Given the description of an element on the screen output the (x, y) to click on. 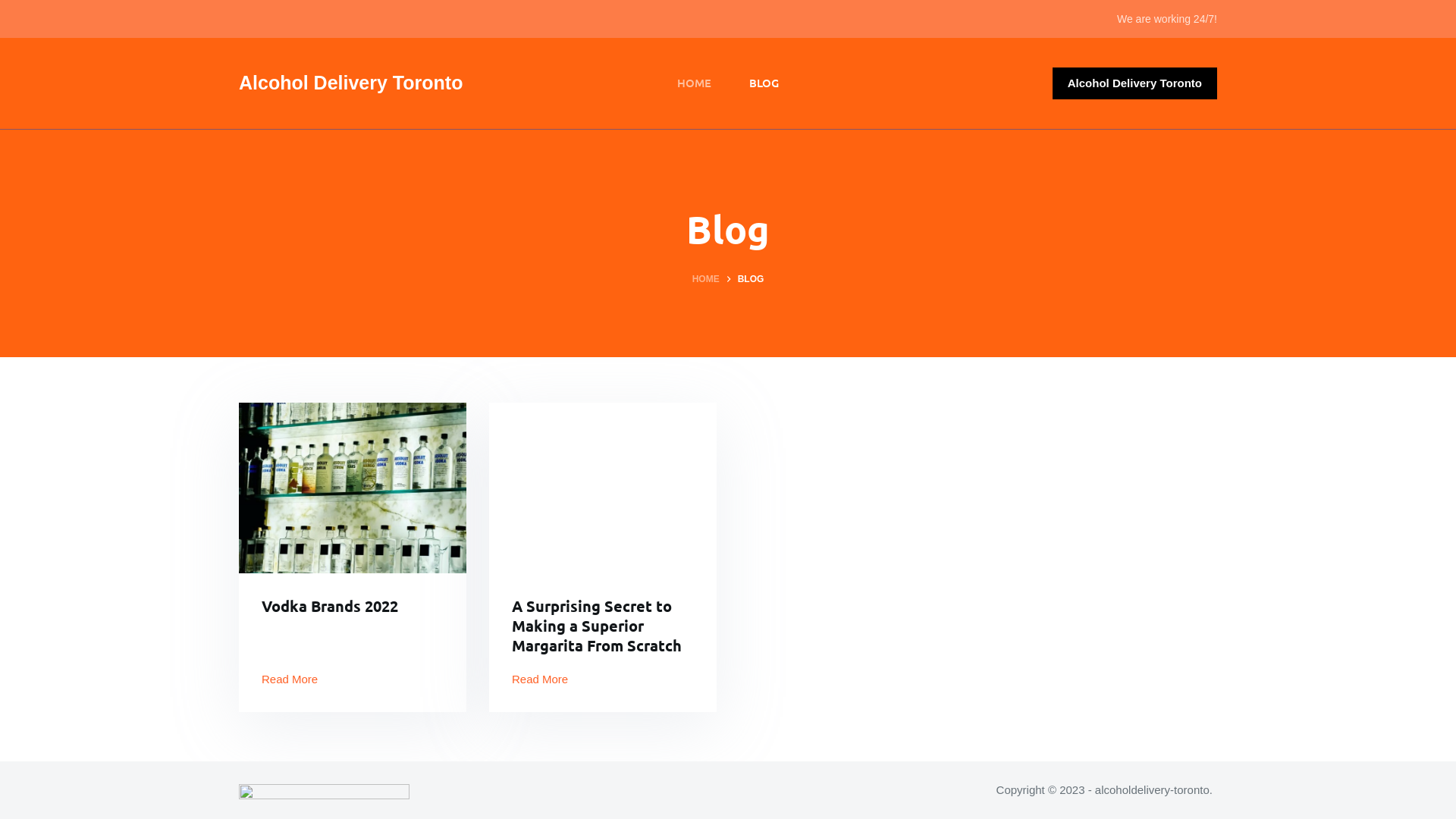
Alcohol Delivery Toronto Element type: text (350, 82)
HOME Element type: text (694, 82)
Alcohol Delivery Toronto Element type: text (1134, 83)
Skip to content Element type: text (15, 7)
Vodka Brands 2022 Element type: text (329, 605)
Read More Element type: text (539, 679)
BLOG Element type: text (763, 82)
Read More Element type: text (289, 679)
HOME Element type: text (705, 279)
